Given the description of an element on the screen output the (x, y) to click on. 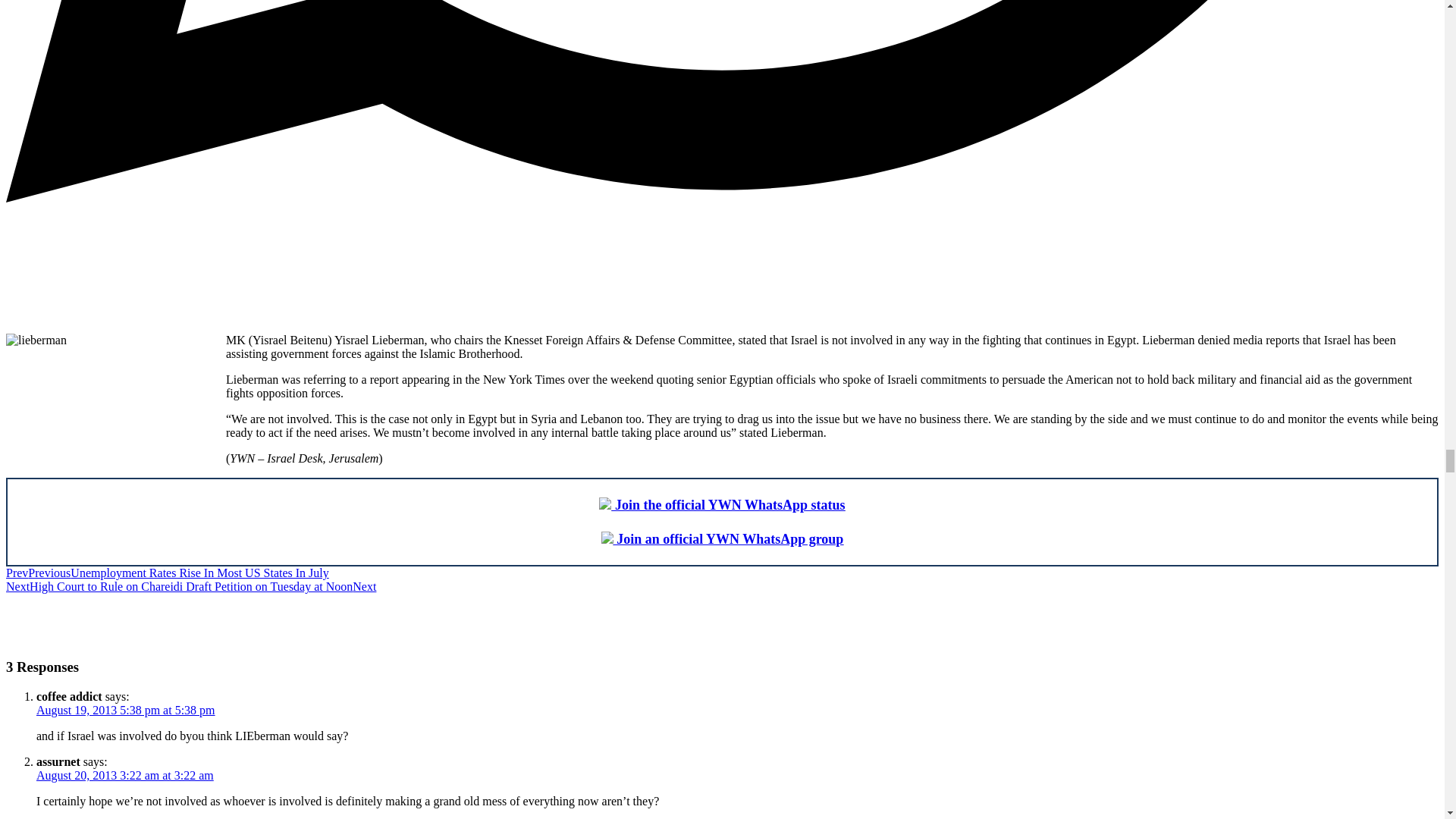
August 19, 2013 5:38 pm at 5:38 pm (125, 709)
August 20, 2013 3:22 am at 3:22 am (125, 775)
